Given the description of an element on the screen output the (x, y) to click on. 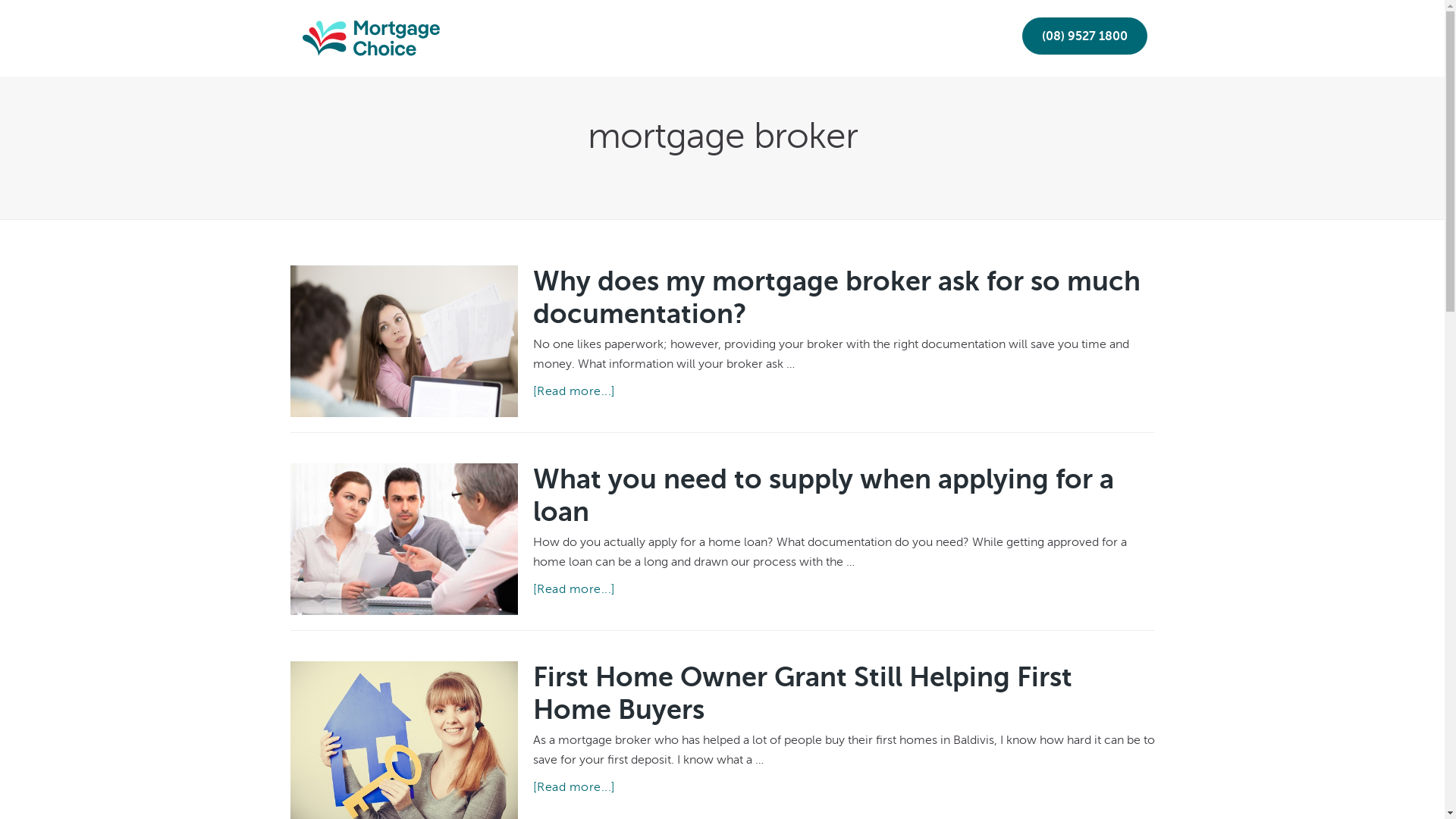
What you need to supply when applying for a loan Element type: text (822, 495)
MORTGAGE CHOICE ROCKINGHAM Element type: text (362, 28)
Why does my mortgage broker ask for so much documentation? Element type: text (835, 297)
First Home Owner Grant Still Helping First Home Buyers Element type: text (801, 693)
(08) 9527 1800 Element type: text (1084, 35)
Skip to main content Element type: text (0, 0)
